Given the description of an element on the screen output the (x, y) to click on. 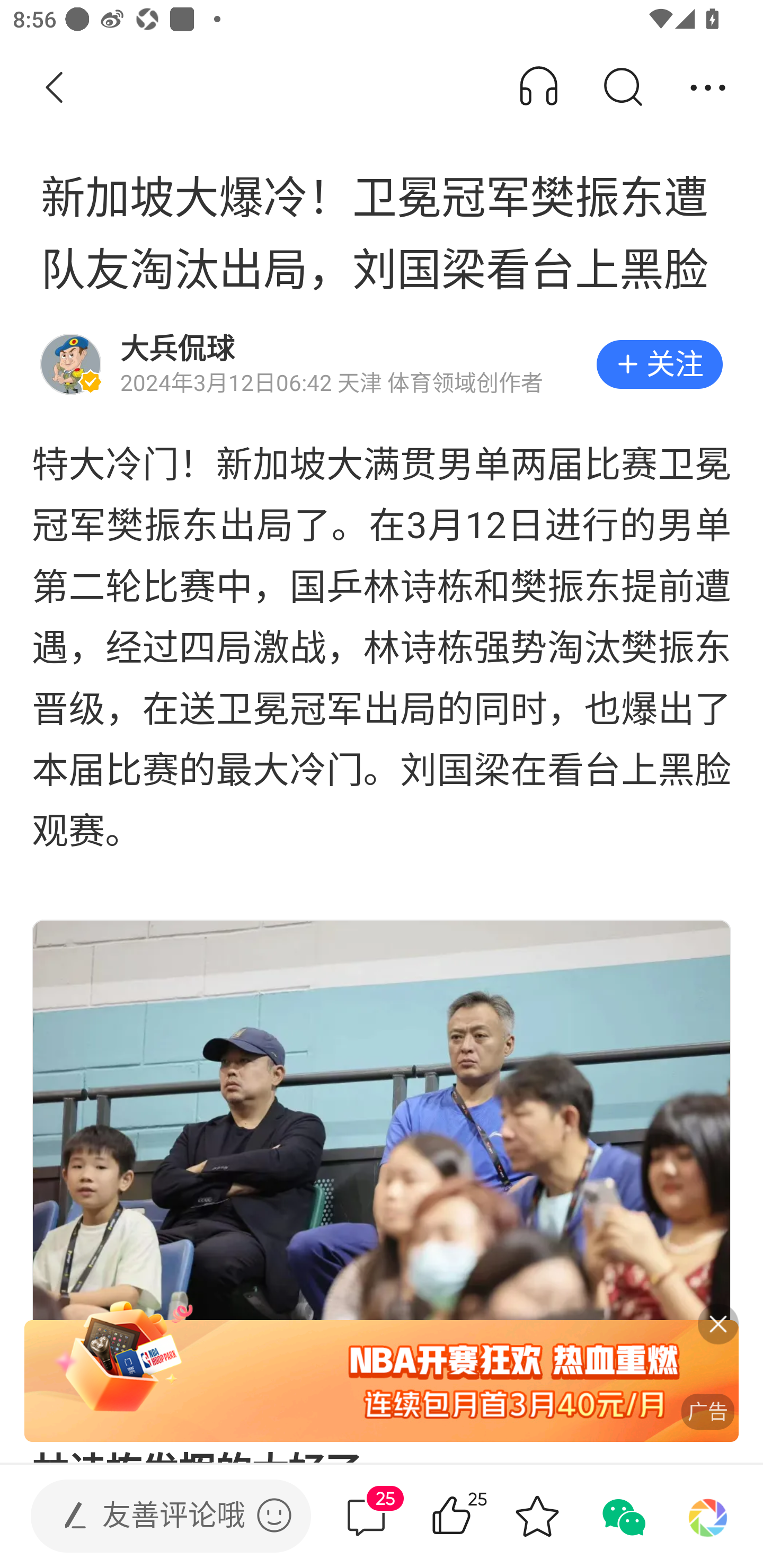
搜索  (622, 87)
分享  (707, 87)
 返回 (54, 87)
大兵侃球 2024年3月12日06:42 天津 体育领域创作者  关注 (381, 364)
 关注 (659, 364)
新闻图片 (381, 1151)
广告 (381, 1381)
发表评论  友善评论哦 发表评论  (155, 1516)
25评论  25 评论 (365, 1516)
25赞 (476, 1516)
收藏  (536, 1516)
分享到微信  (622, 1516)
分享到朋友圈 (707, 1516)
 (274, 1515)
